Given the description of an element on the screen output the (x, y) to click on. 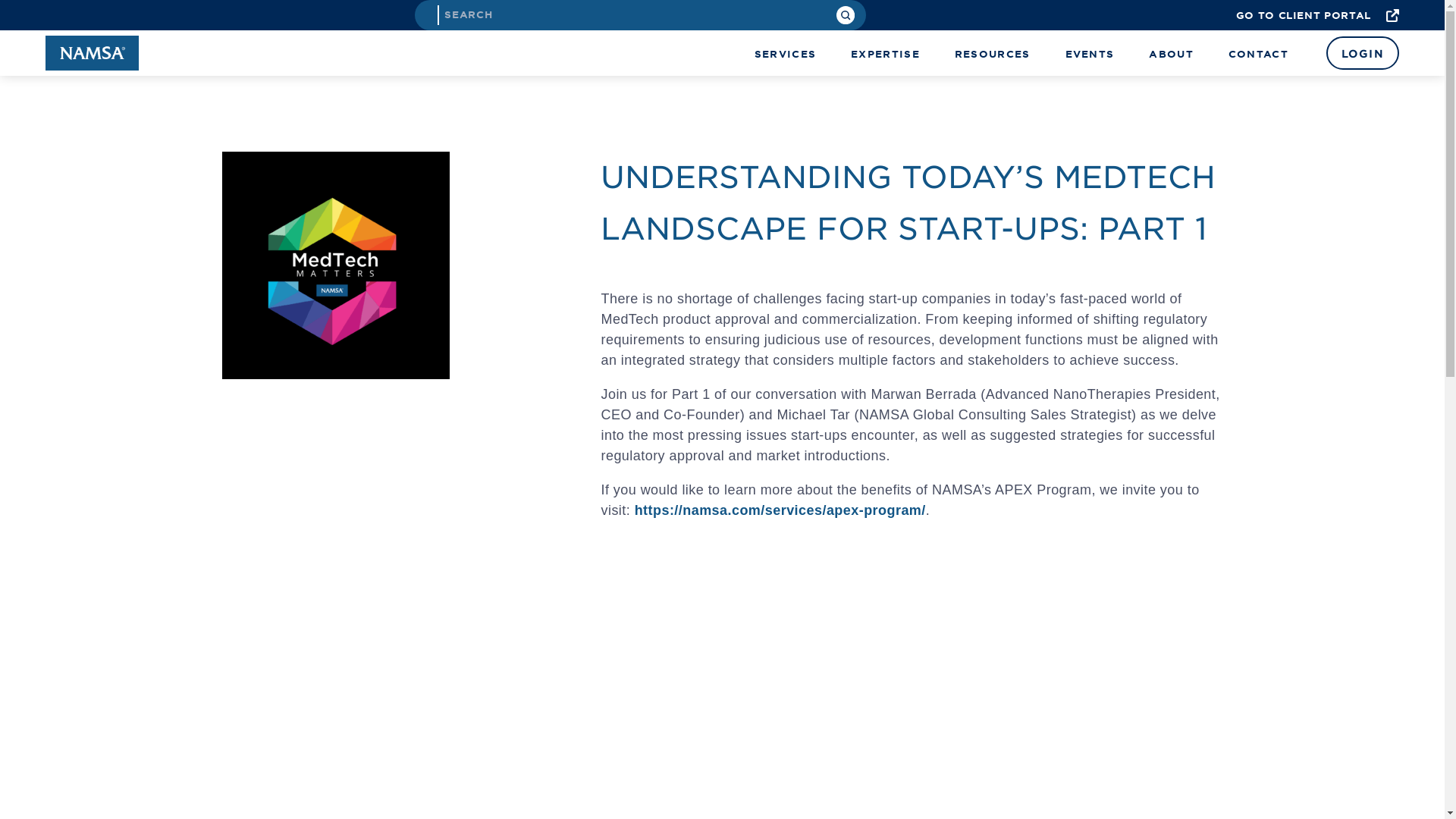
EXPERTISE (884, 53)
CONTACT (1258, 53)
RESOURCES (992, 53)
GO TO CLIENT PORTAL (1317, 15)
ABOUT (1171, 53)
EVENTS (1090, 53)
SERVICES (784, 53)
